Given the description of an element on the screen output the (x, y) to click on. 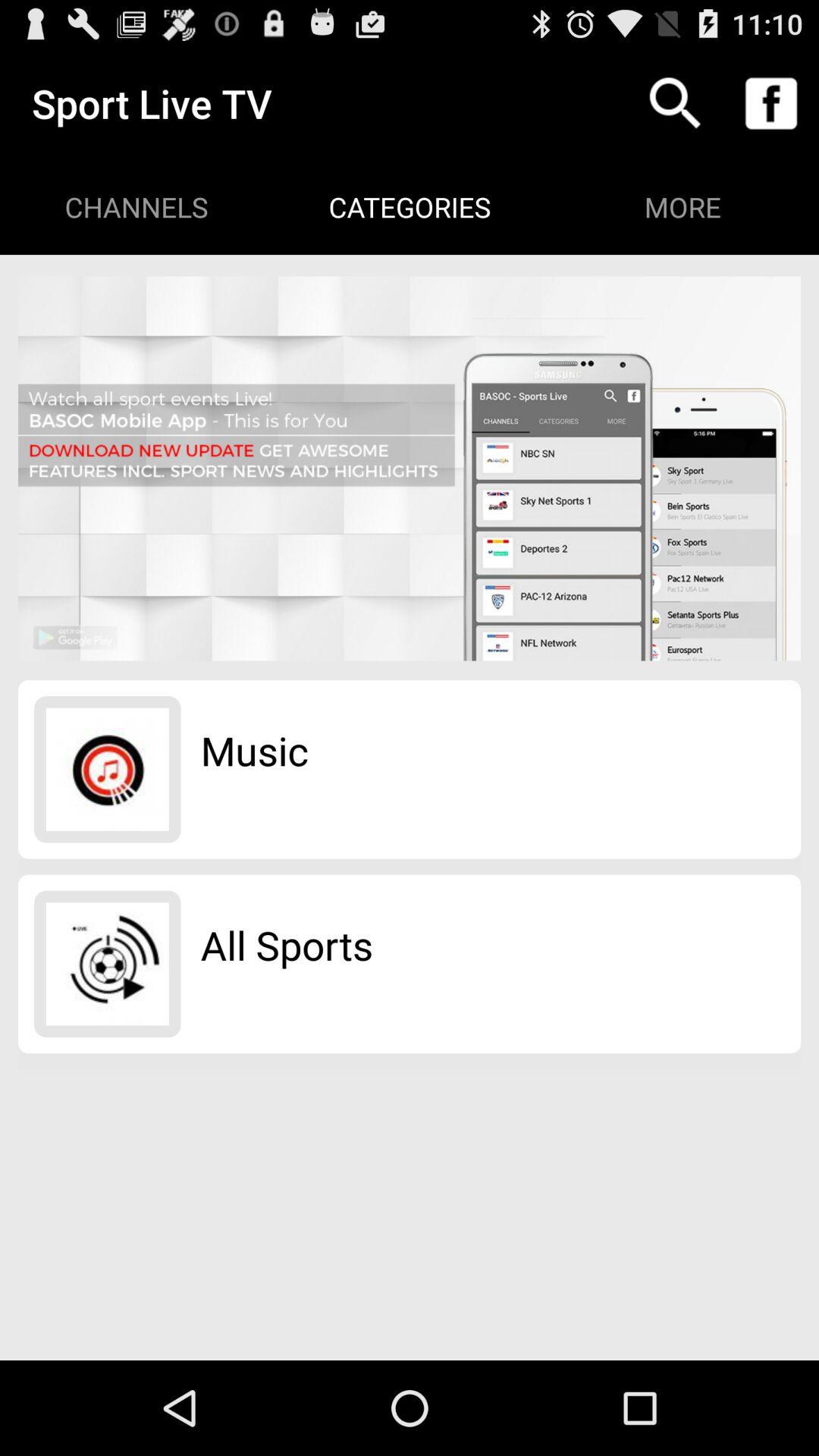
choose the item below the music (286, 944)
